Given the description of an element on the screen output the (x, y) to click on. 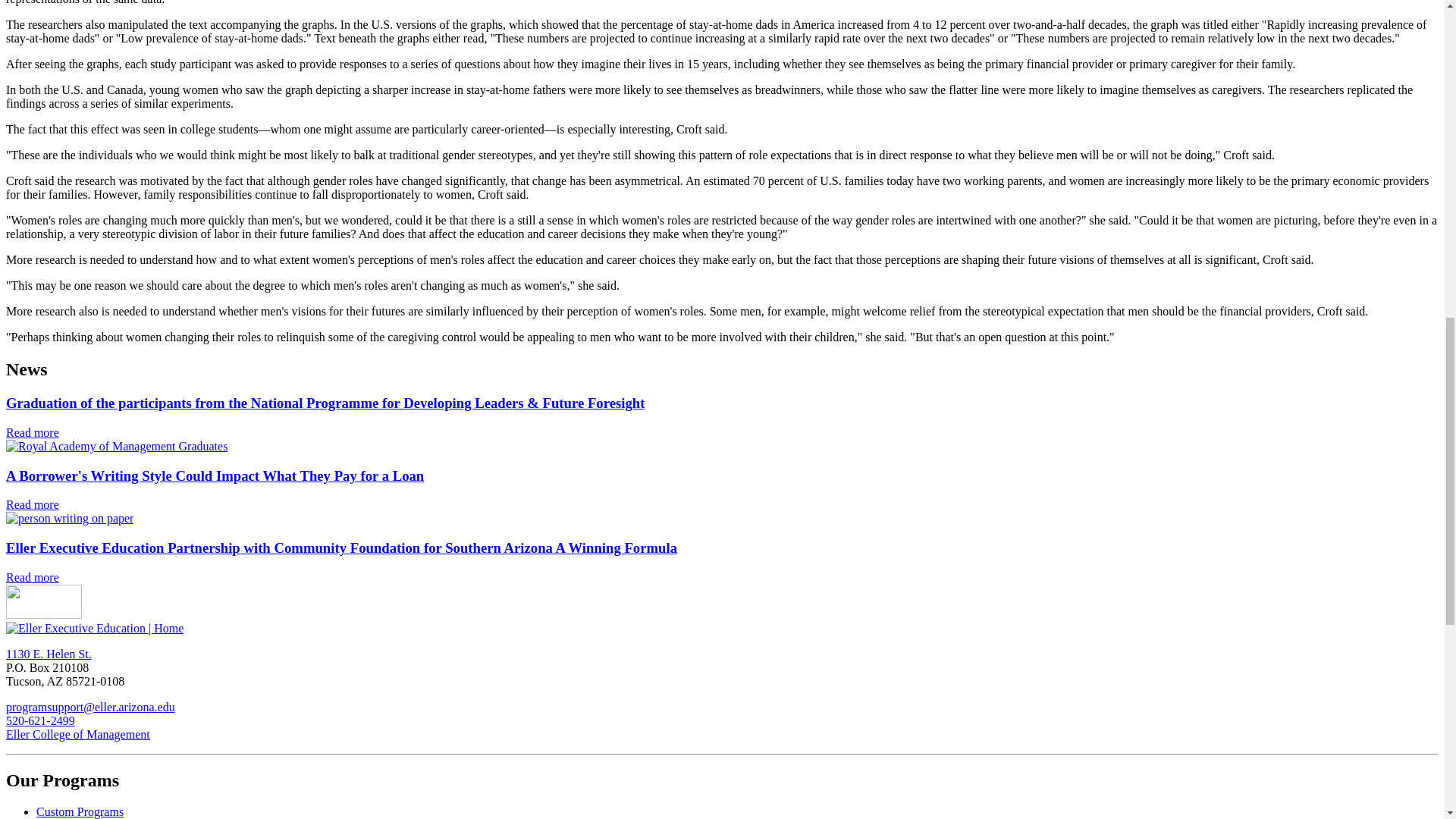
Custom Programs (79, 811)
1130 E. Helen St. (48, 653)
Eller College of Management (77, 734)
520-621-2499 (40, 720)
